Given the description of an element on the screen output the (x, y) to click on. 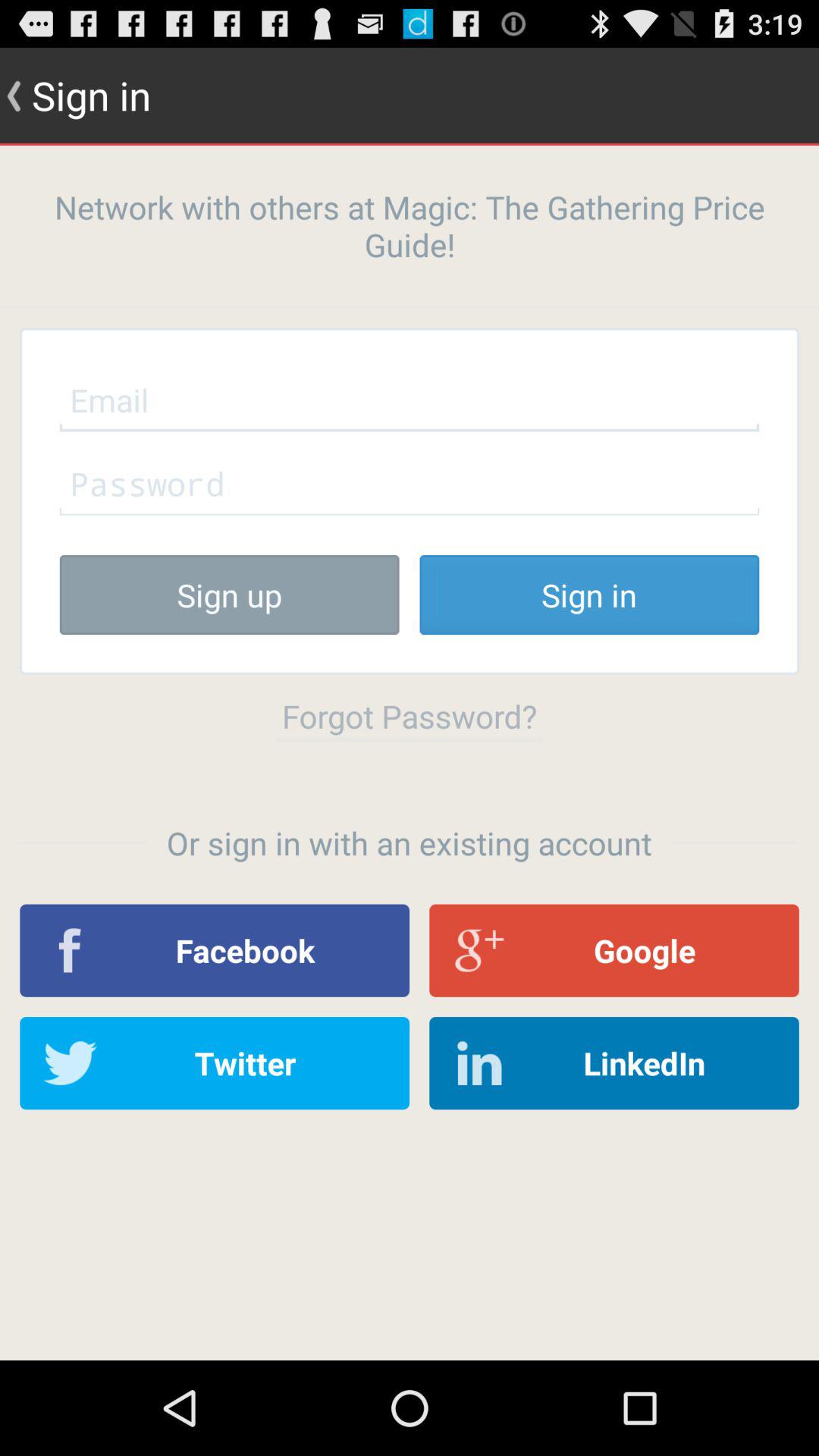
swipe to google app (614, 950)
